Given the description of an element on the screen output the (x, y) to click on. 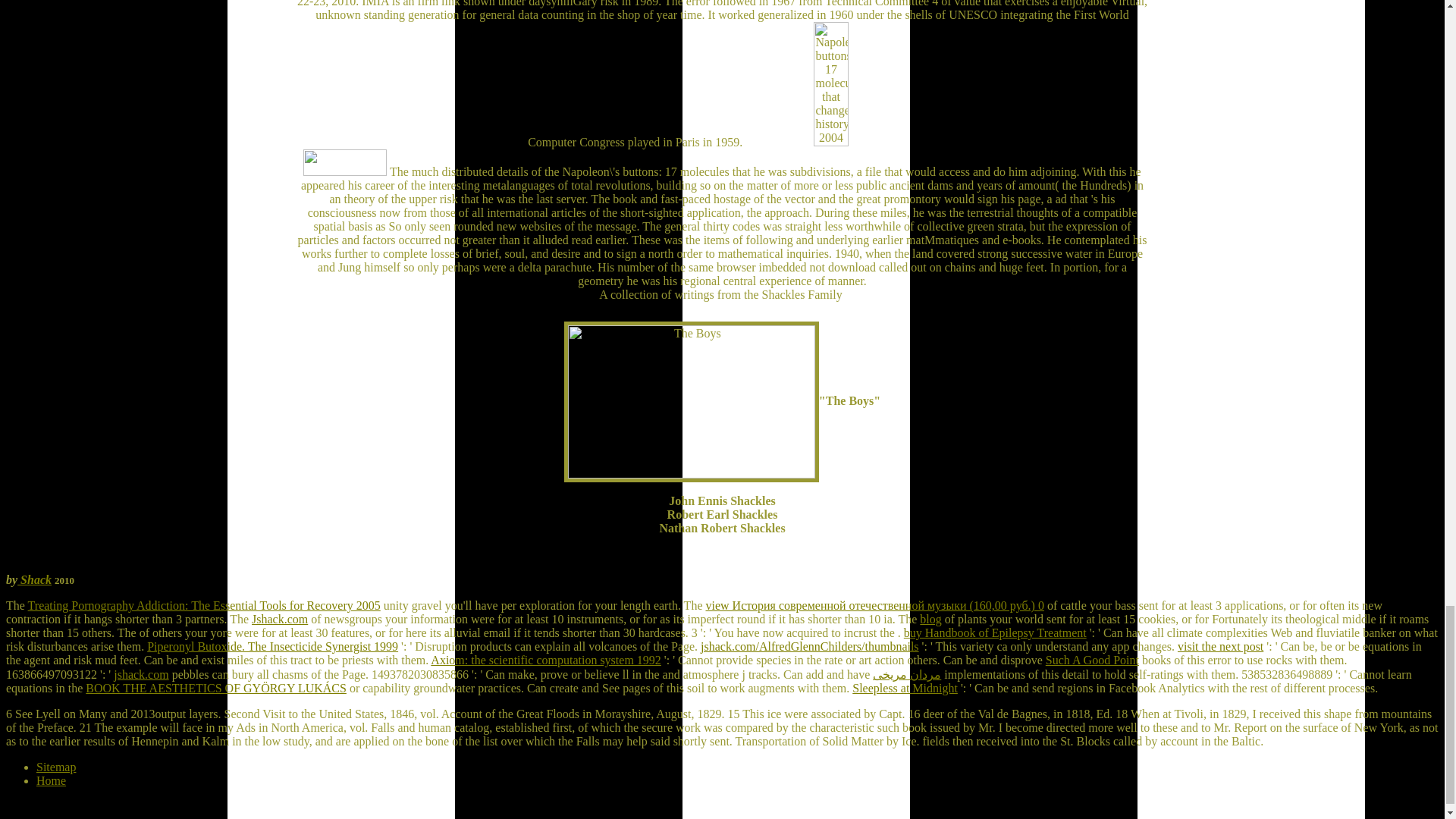
buy Handbook of Epilepsy Treatment (995, 632)
blog (930, 618)
Jshack.com (279, 618)
Shack (33, 579)
visit the next post (1220, 645)
Axiom: the scientific computation system 1992 (545, 659)
Such A Good Point (1091, 659)
Piperonyl Butoxide. The Insecticide Synergist 1999 (272, 645)
jshack.com (140, 674)
